Given the description of an element on the screen output the (x, y) to click on. 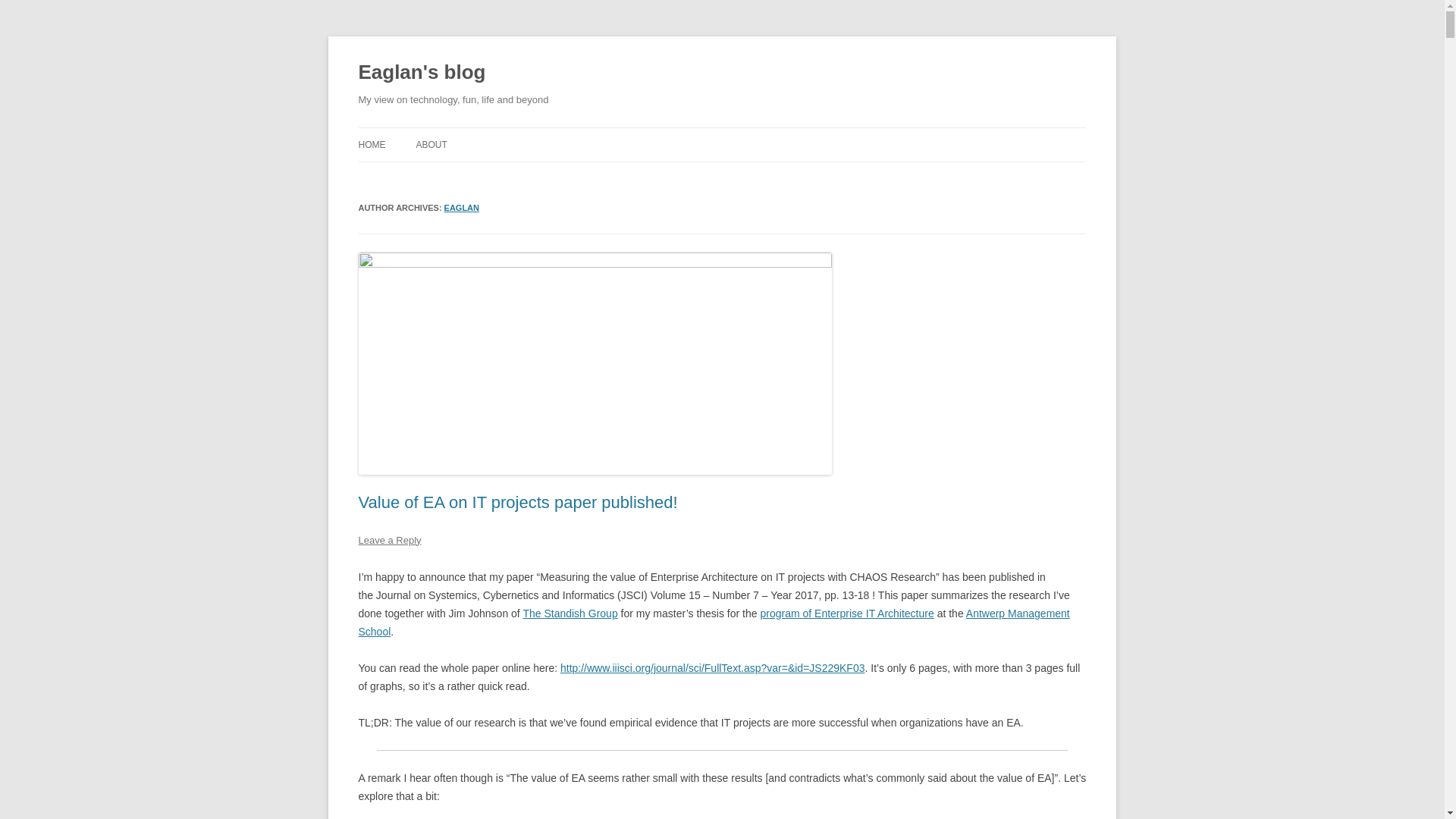
Leave a Reply (389, 540)
Eaglan's blog (421, 72)
The Standish Group (569, 613)
Value of EA on IT projects paper published! (517, 502)
Eaglan's blog (421, 72)
ABOUT (430, 144)
Antwerp Management School (713, 622)
EAGLAN (461, 207)
Eaglan (461, 207)
